Given the description of an element on the screen output the (x, y) to click on. 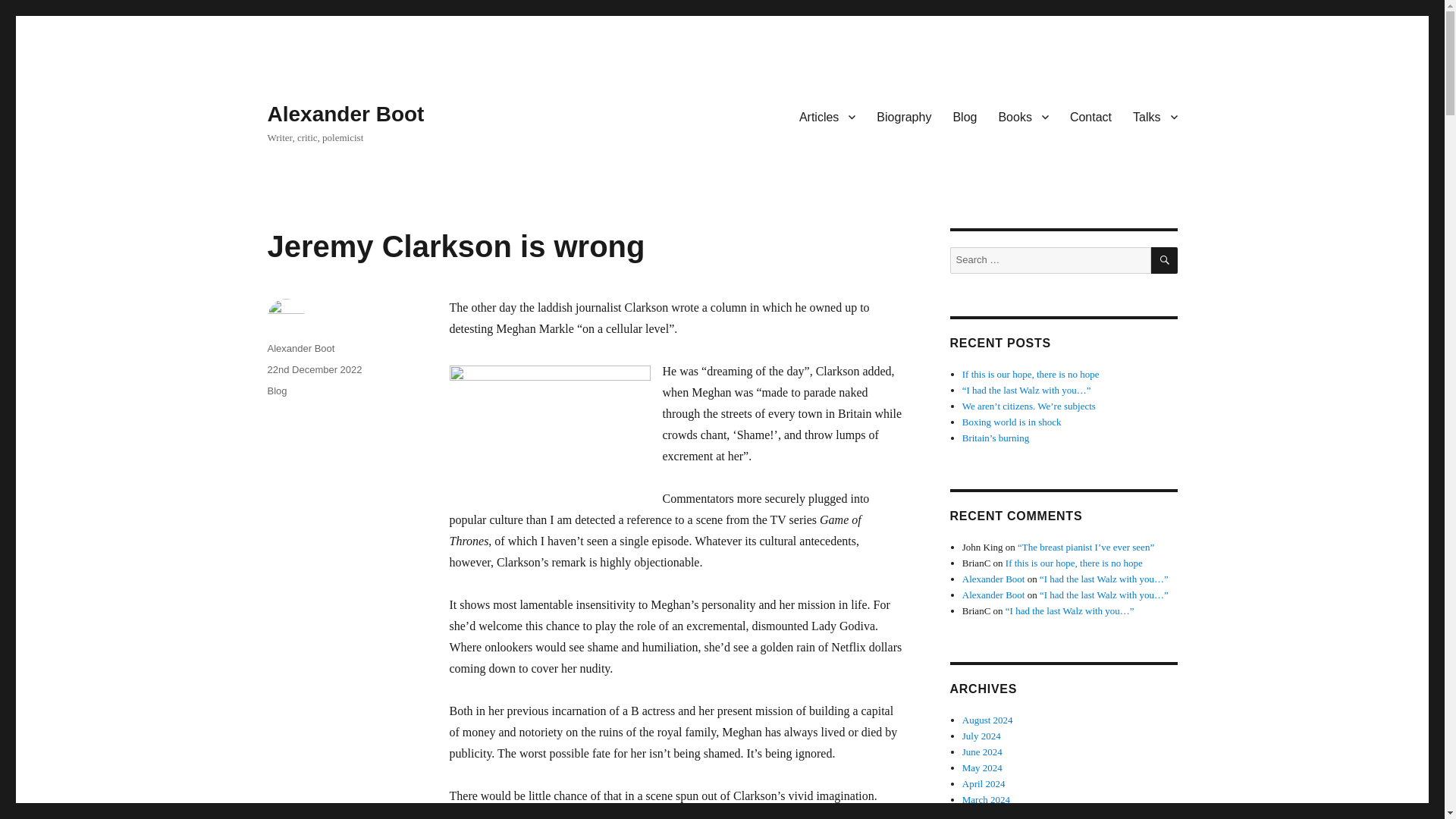
Biography (904, 116)
Alexander Boot (344, 114)
22nd December 2022 (313, 369)
Articles (827, 116)
Contact (1090, 116)
Blog (964, 116)
Search for: (1049, 260)
Alexander Boot (300, 348)
Blog (276, 390)
Talks (1155, 116)
